Given the description of an element on the screen output the (x, y) to click on. 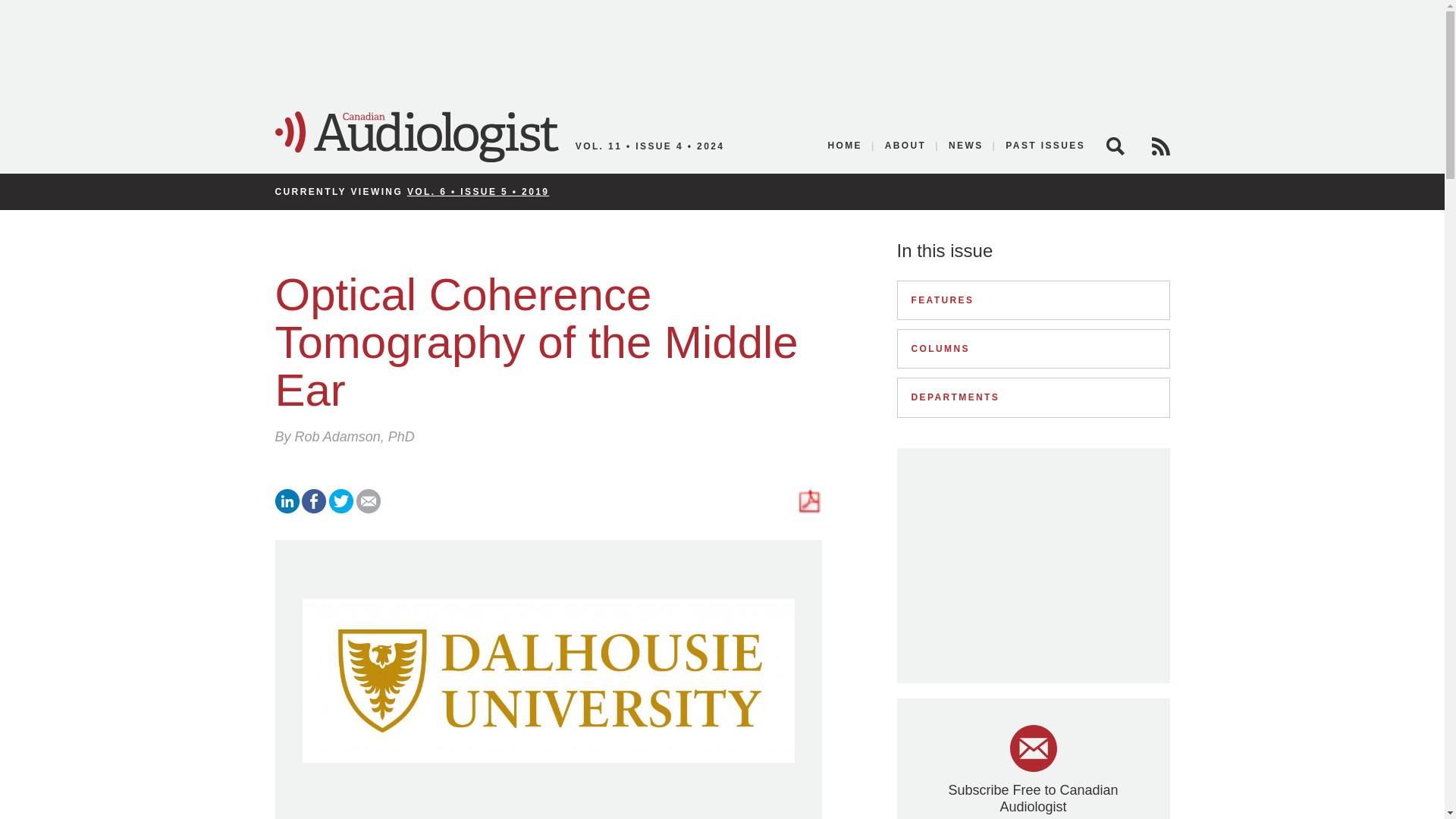
3rd party ad content (1032, 565)
Search the Canadian Audiologists site (1115, 146)
3rd party ad content (721, 49)
HOME (844, 145)
PAST ISSUES (1039, 145)
NEWS (965, 145)
Share on Facebook (313, 509)
ABOUT (906, 145)
About The Canadian Academy of Audiology (906, 145)
Send email (368, 509)
